Given the description of an element on the screen output the (x, y) to click on. 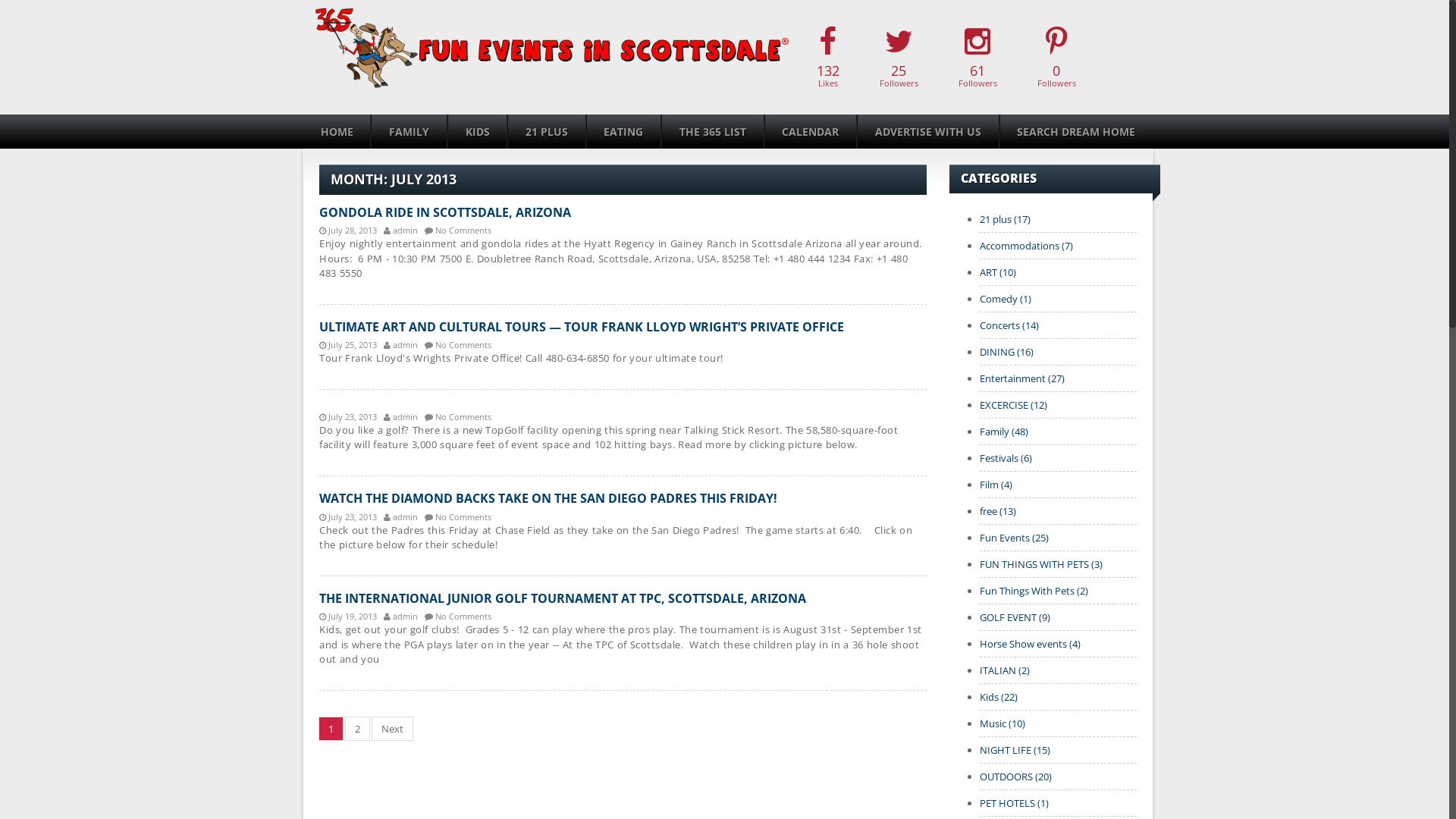
Film (4) Element type: text (995, 484)
admin Element type: text (400, 615)
admin Element type: text (400, 516)
GOLF EVENT (9) Element type: text (1014, 617)
Family (48) Element type: text (1003, 431)
KIDS Element type: text (477, 131)
Fun Things With Pets (2) Element type: text (1033, 590)
ADVERTISE WITH US Element type: text (927, 131)
SEARCH DREAM HOME Element type: text (1075, 131)
Kids (22) Element type: text (998, 696)
61
Followers Element type: text (976, 56)
ITALIAN (2) Element type: text (1004, 670)
EATING Element type: text (623, 131)
THE 365 LIST Element type: text (712, 131)
Accommodations (7) Element type: text (1026, 245)
FUN THINGS WITH PETS (3) Element type: text (1040, 564)
DINING (16) Element type: text (1006, 351)
No Comments Element type: text (457, 416)
EXCERCISE (12) Element type: text (1013, 404)
PET HOTELS (1) Element type: text (1013, 802)
July 28, 2013 Element type: text (347, 229)
CALENDAR Element type: text (810, 131)
free (13) Element type: text (997, 510)
GONDOLA RIDE IN SCOTTSDALE, ARIZONA Element type: text (445, 211)
No Comments Element type: text (457, 615)
admin Element type: text (400, 344)
admin Element type: text (400, 229)
July 23, 2013 Element type: text (347, 516)
July 25, 2013 Element type: text (347, 344)
Comedy (1) Element type: text (1005, 298)
July 23, 2013 Element type: text (347, 416)
Concerts (14) Element type: text (1008, 325)
FAMILY Element type: text (408, 131)
No Comments Element type: text (457, 229)
OUTDOORS (20) Element type: text (1015, 776)
0
Followers Element type: text (1055, 56)
July 19, 2013 Element type: text (347, 615)
admin Element type: text (400, 416)
21 plus (17) Element type: text (1004, 218)
Festivals (6) Element type: text (1005, 457)
2 Element type: text (357, 728)
Music (10) Element type: text (1002, 723)
No Comments Element type: text (457, 516)
HOME Element type: text (336, 131)
ART (10) Element type: text (997, 272)
Next Element type: text (392, 728)
NIGHT LIFE (15) Element type: text (1014, 749)
132
Likes Element type: text (827, 56)
No Comments Element type: text (457, 344)
25
Followers Element type: text (897, 56)
21 PLUS Element type: text (546, 131)
Horse Show events (4) Element type: text (1029, 643)
Entertainment (27) Element type: text (1021, 378)
Fun Events (25) Element type: text (1013, 537)
